Given the description of an element on the screen output the (x, y) to click on. 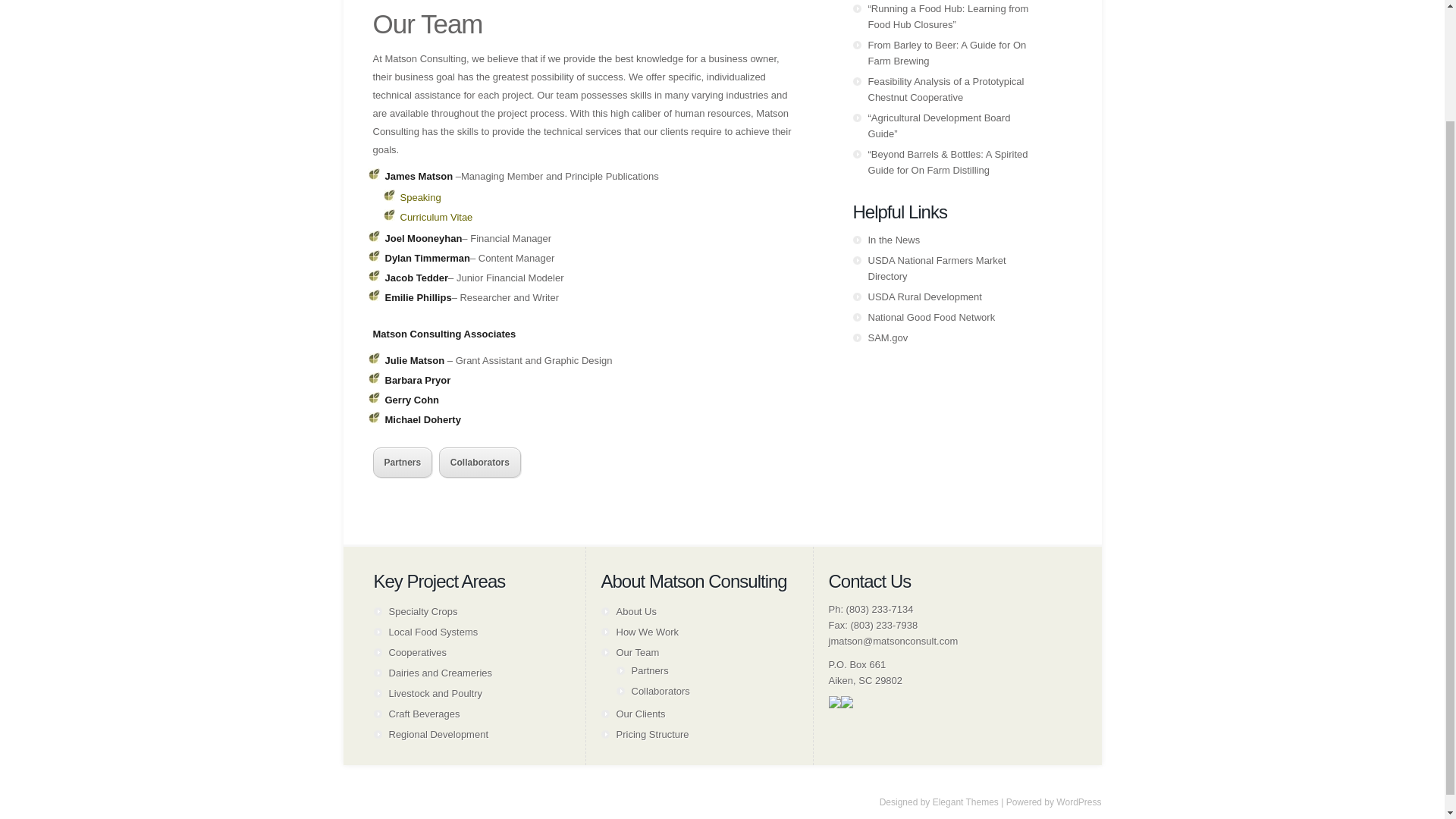
Speaking (420, 197)
Curriculum Vitae (436, 216)
Dylan Timmerman (427, 257)
Joel Mooneyhan (424, 238)
Julie Matson (415, 360)
Jacob Tedder (416, 277)
Partners (402, 462)
Premium WordPress Themes (965, 801)
Collaborators (480, 462)
From Barley to Beer: A Guide for On Farm Brewing (946, 52)
Barbara Pryor (418, 379)
Emilie Phillips (418, 297)
Feasibility Analysis of a Prototypical Chestnut Cooperative (945, 89)
In the News (893, 239)
James Matson (418, 175)
